Given the description of an element on the screen output the (x, y) to click on. 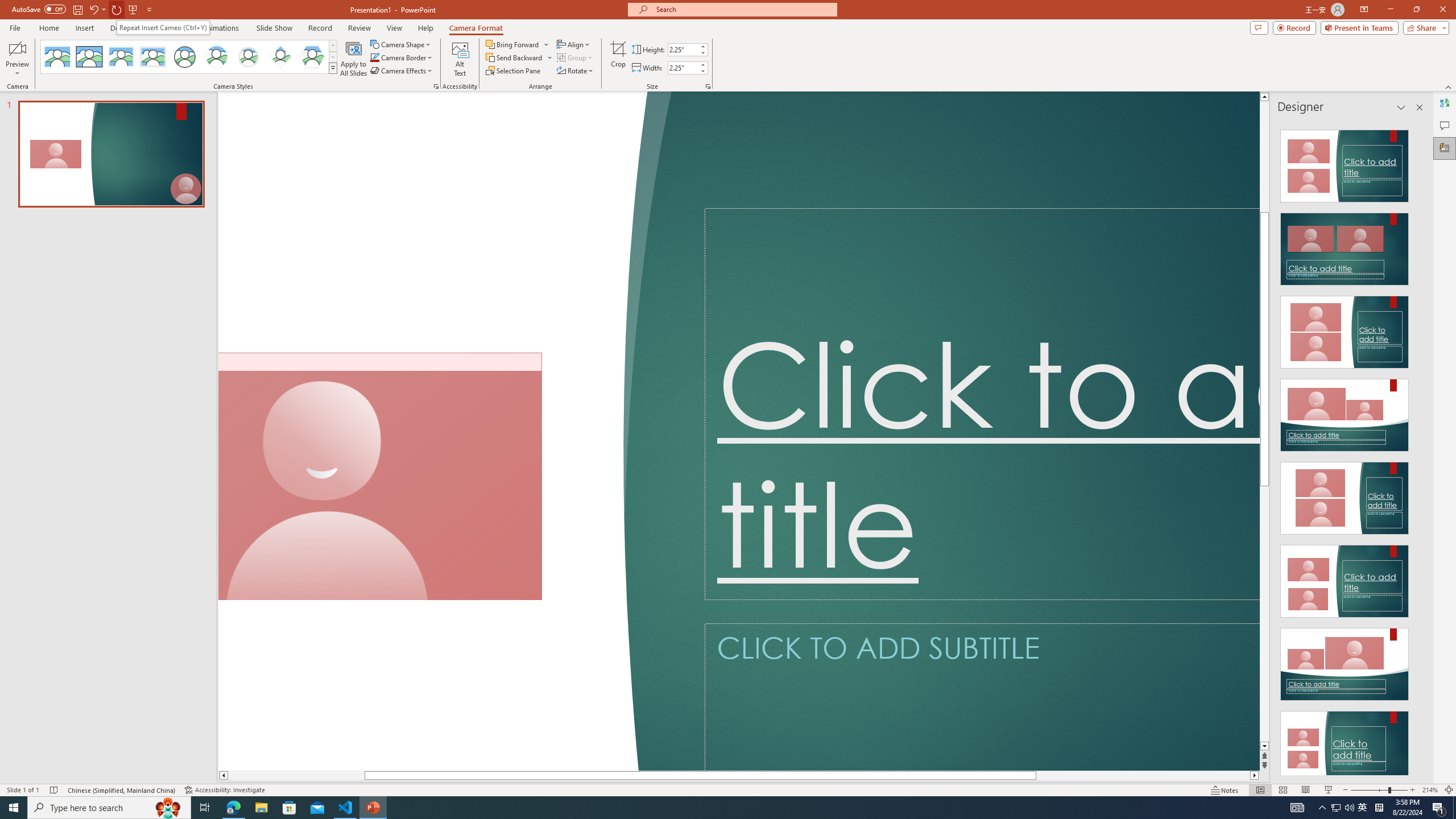
Simple Frame Rectangle (88, 56)
Save (77, 9)
Design (122, 28)
Redo (117, 9)
Animations (220, 28)
Alt Text (459, 58)
Selection Pane... (513, 69)
From Beginning (133, 9)
Spell Check No Errors (54, 790)
Notes  (1225, 790)
Row Down (333, 56)
AutomationID: CameoStylesGallery (189, 56)
Send Backward (514, 56)
